Given the description of an element on the screen output the (x, y) to click on. 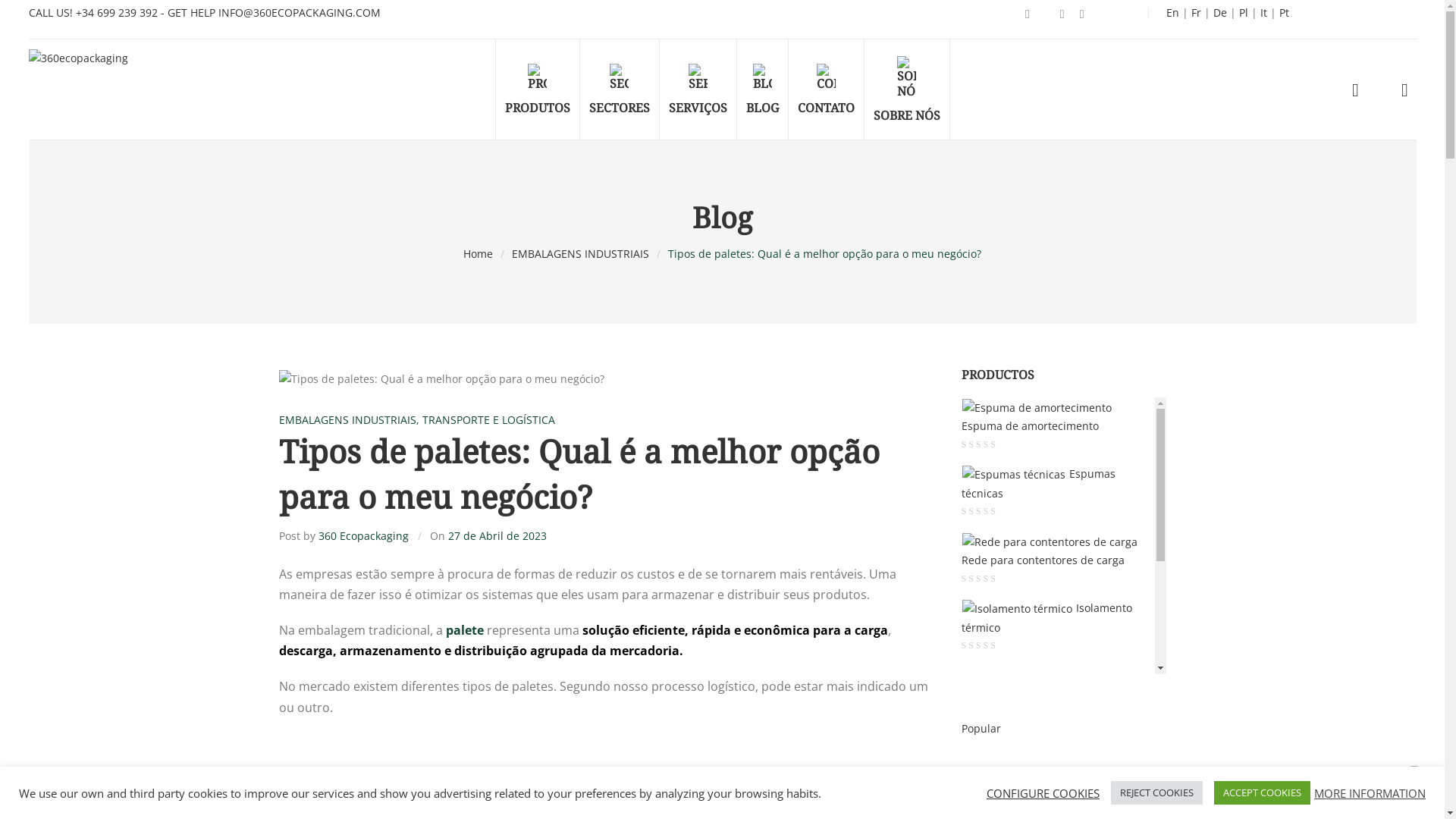
Pt Element type: text (1284, 12)
Fr Element type: text (1196, 12)
De Element type: text (1219, 12)
EMBALAGENS INDUSTRIAIS Element type: text (580, 253)
360 Ecopackaging Element type: text (363, 535)
SECTORES Element type: text (618, 89)
BLOG Element type: text (762, 89)
EMBALAGENS INDUSTRIAIS Element type: text (347, 419)
Pl Element type: text (1243, 12)
Home Element type: text (477, 253)
ACCEPT COOKIES Element type: text (1262, 792)
MORE INFORMATION Element type: text (1369, 792)
Instagran Element type: text (1081, 14)
Facebook Element type: text (1027, 14)
Popular Element type: text (981, 728)
27 de Abril de 2023 Element type: text (496, 535)
En Element type: text (1172, 12)
Youtube Element type: text (1062, 14)
CONTATO Element type: text (826, 89)
CONFIGURE COOKIES Element type: text (1042, 792)
PRODUTOS Element type: text (536, 89)
+34 699 239 392 Element type: text (117, 12)
INFO@360ECOPACKAGING.COM Element type: text (299, 12)
360ecopackaging Element type: hover (78, 53)
Rede para contentores de carga Element type: text (1049, 550)
palete Element type: text (464, 629)
It Element type: text (1263, 12)
Espuma de amortecimento Element type: text (1036, 417)
REJECT COOKIES Element type: text (1156, 792)
